Given the description of an element on the screen output the (x, y) to click on. 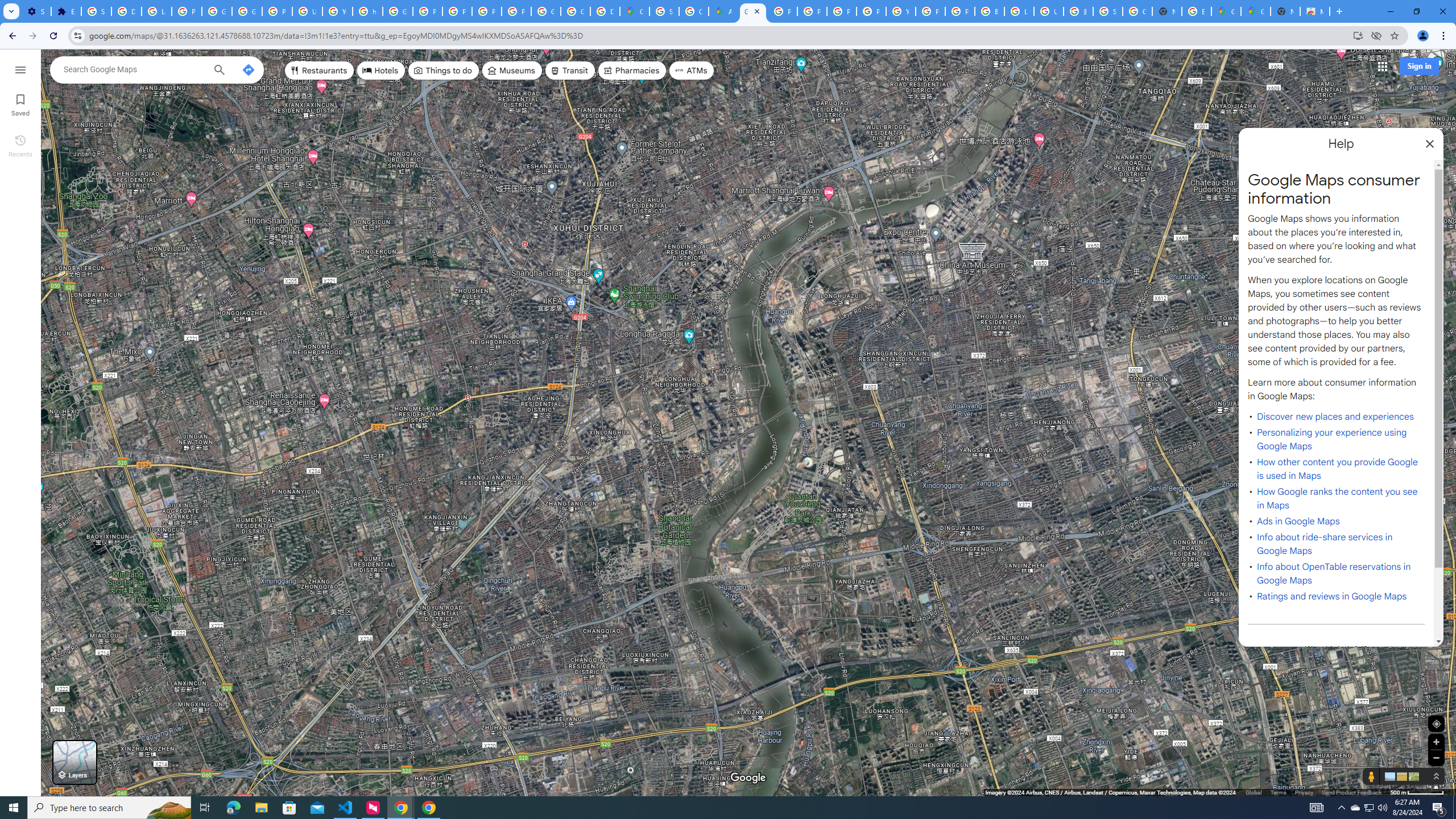
Search Google Maps (133, 69)
Zoom in (1436, 741)
Show Your Location (1436, 723)
Layers (74, 762)
Privacy Help Center - Policies Help (811, 11)
Sign in - Google Accounts (664, 11)
https://scholar.google.com/ (367, 11)
How other content you provide Google is used in Maps (1337, 469)
Install Google Maps (1358, 35)
How Google ranks the content you see in Maps (1337, 498)
Send Product Feedback (1351, 792)
